Given the description of an element on the screen output the (x, y) to click on. 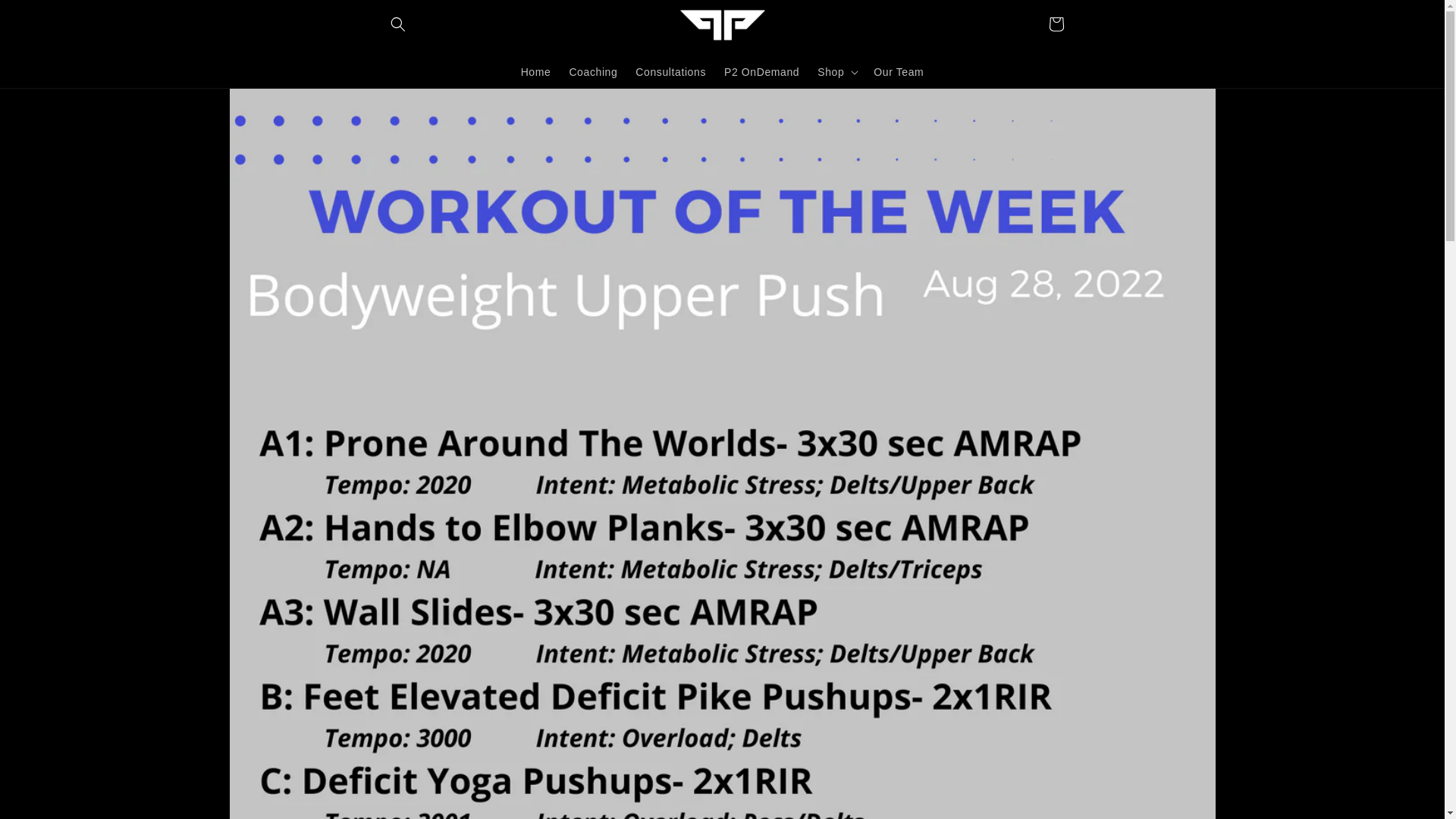
Consultations (670, 71)
Our Team (898, 71)
Cart (1055, 23)
P2 OnDemand (761, 71)
Coaching (592, 71)
Skip to content (45, 17)
Home (536, 71)
